Given the description of an element on the screen output the (x, y) to click on. 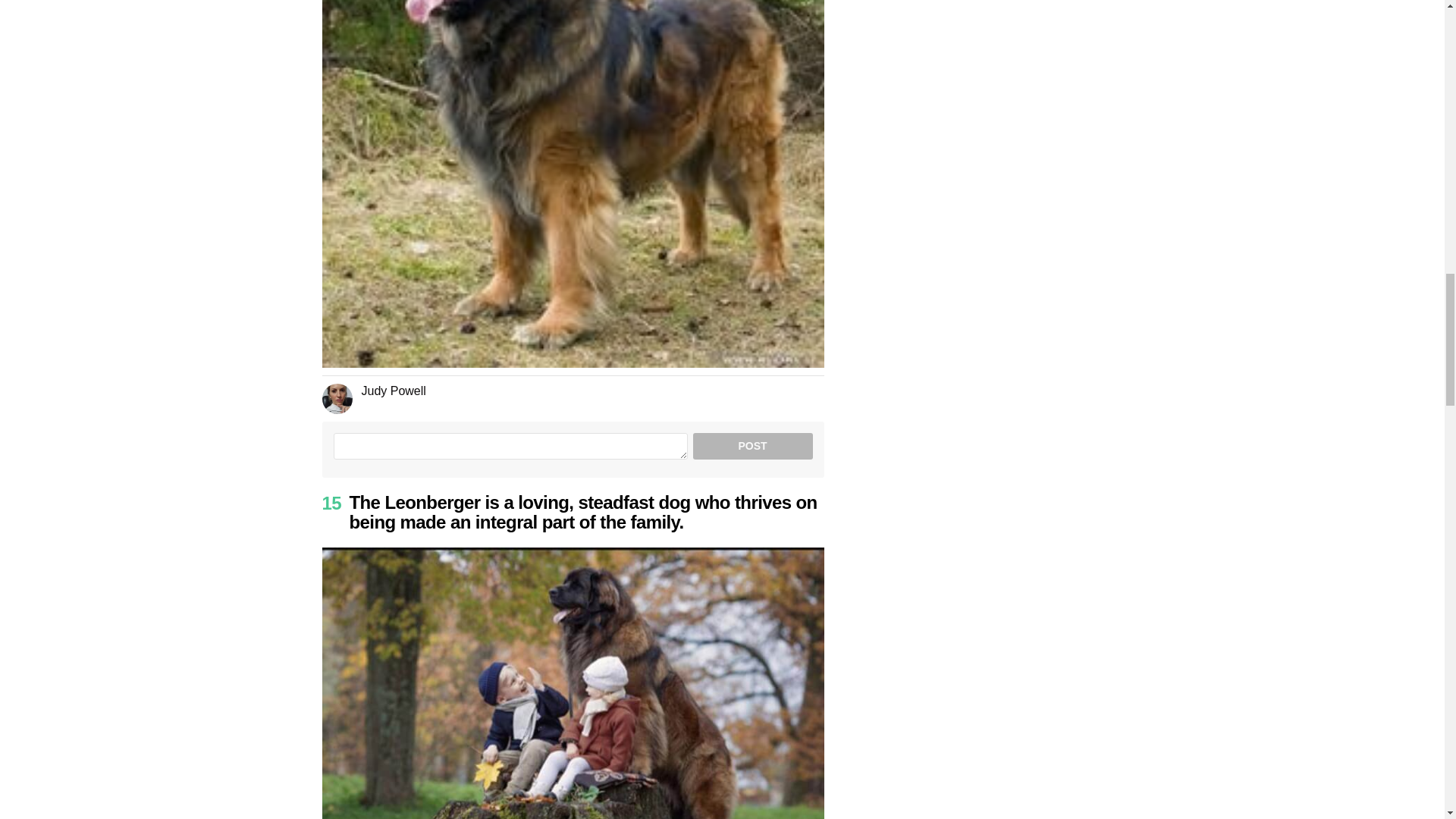
Post (752, 446)
